Given the description of an element on the screen output the (x, y) to click on. 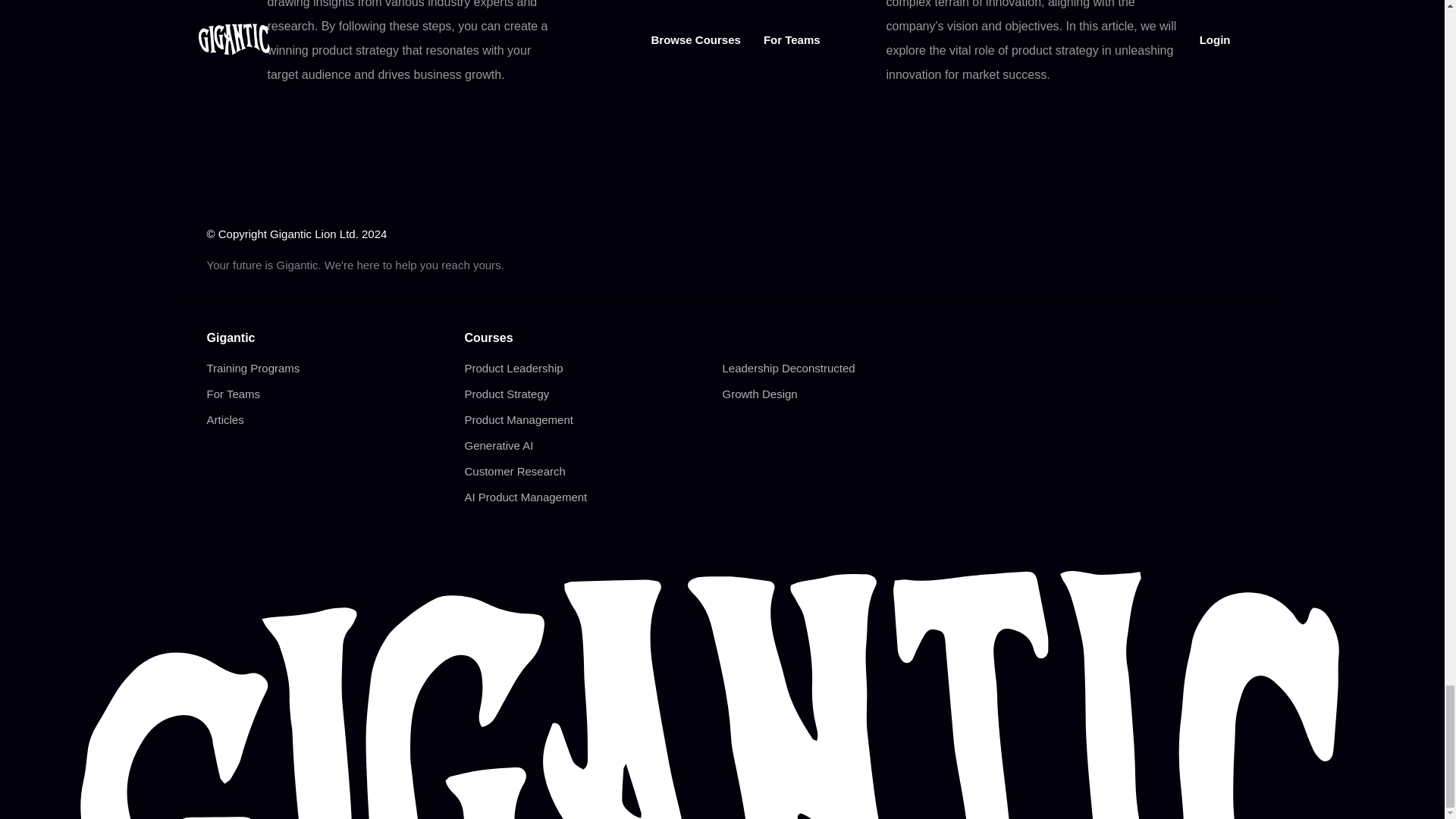
AI Product Management (525, 496)
Product Strategy (506, 393)
Leadership Deconstructed (788, 367)
Training Programs (252, 367)
Product Management (518, 419)
Generative AI (498, 445)
Product Leadership (513, 367)
Articles (224, 419)
Growth Design (759, 393)
